Given the description of an element on the screen output the (x, y) to click on. 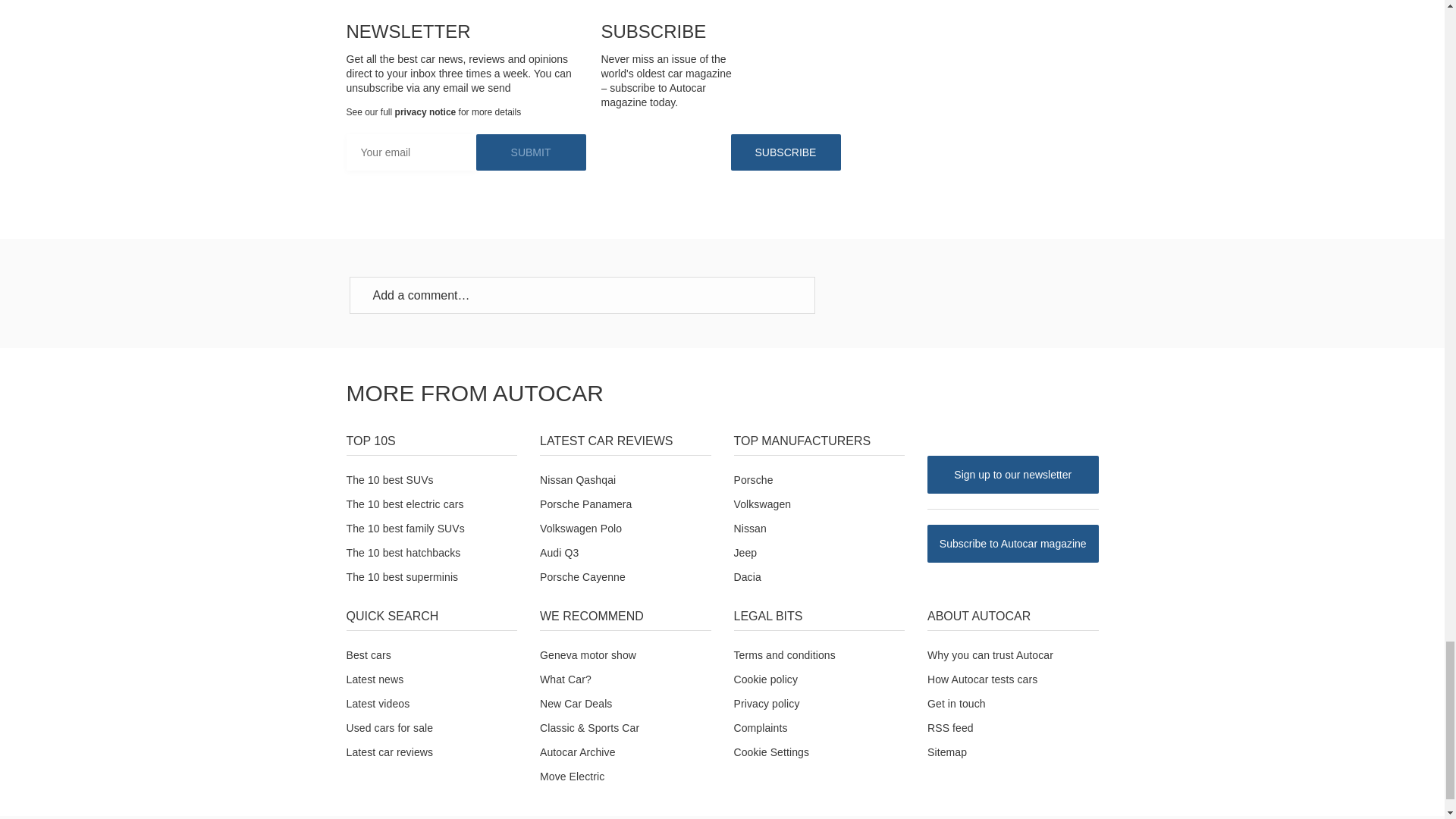
Submit (531, 152)
